Given the description of an element on the screen output the (x, y) to click on. 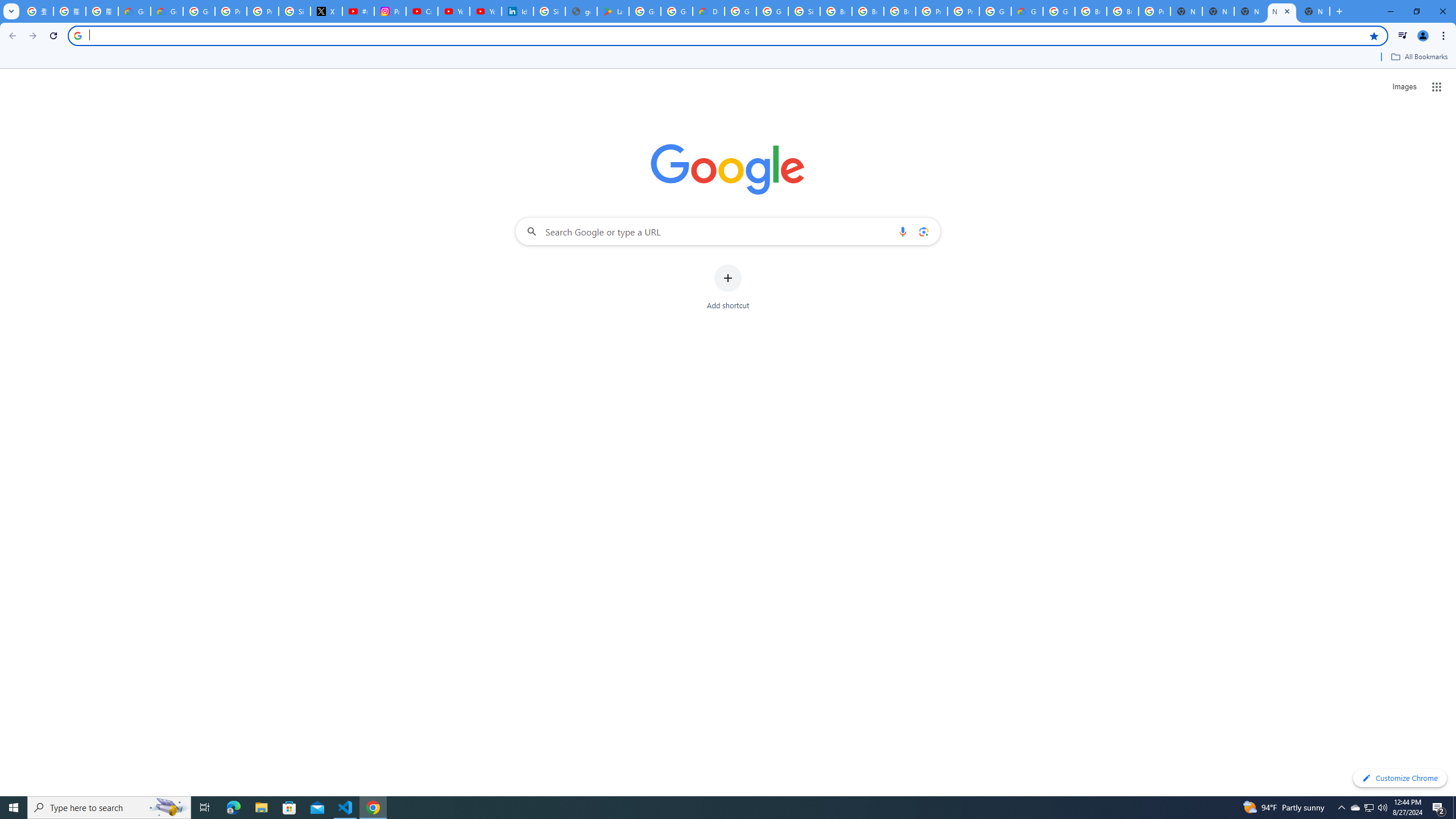
New Tab (1185, 11)
Google Workspace - Specific Terms (676, 11)
Browse Chrome as a guest - Computer - Google Chrome Help (899, 11)
X (326, 11)
